Given the description of an element on the screen output the (x, y) to click on. 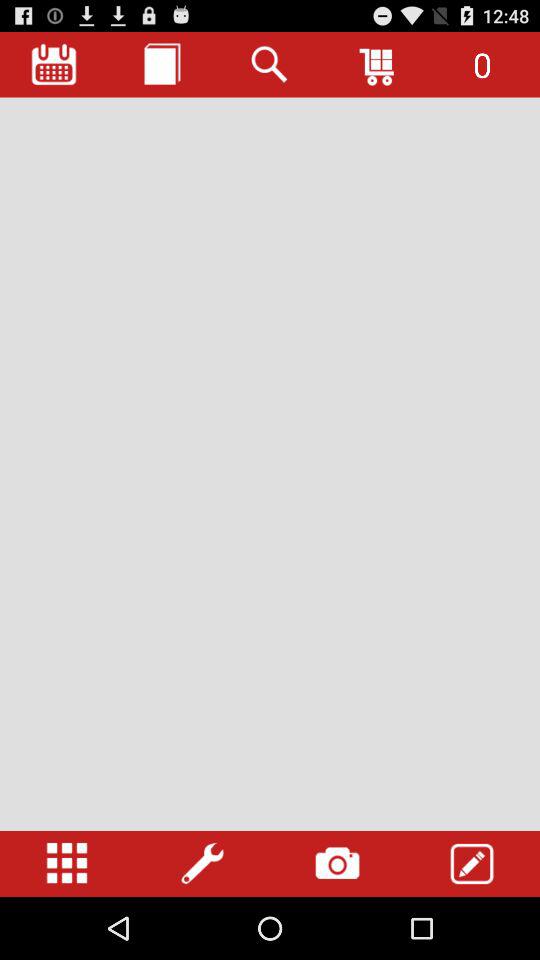
access phone 's camera (337, 863)
